Given the description of an element on the screen output the (x, y) to click on. 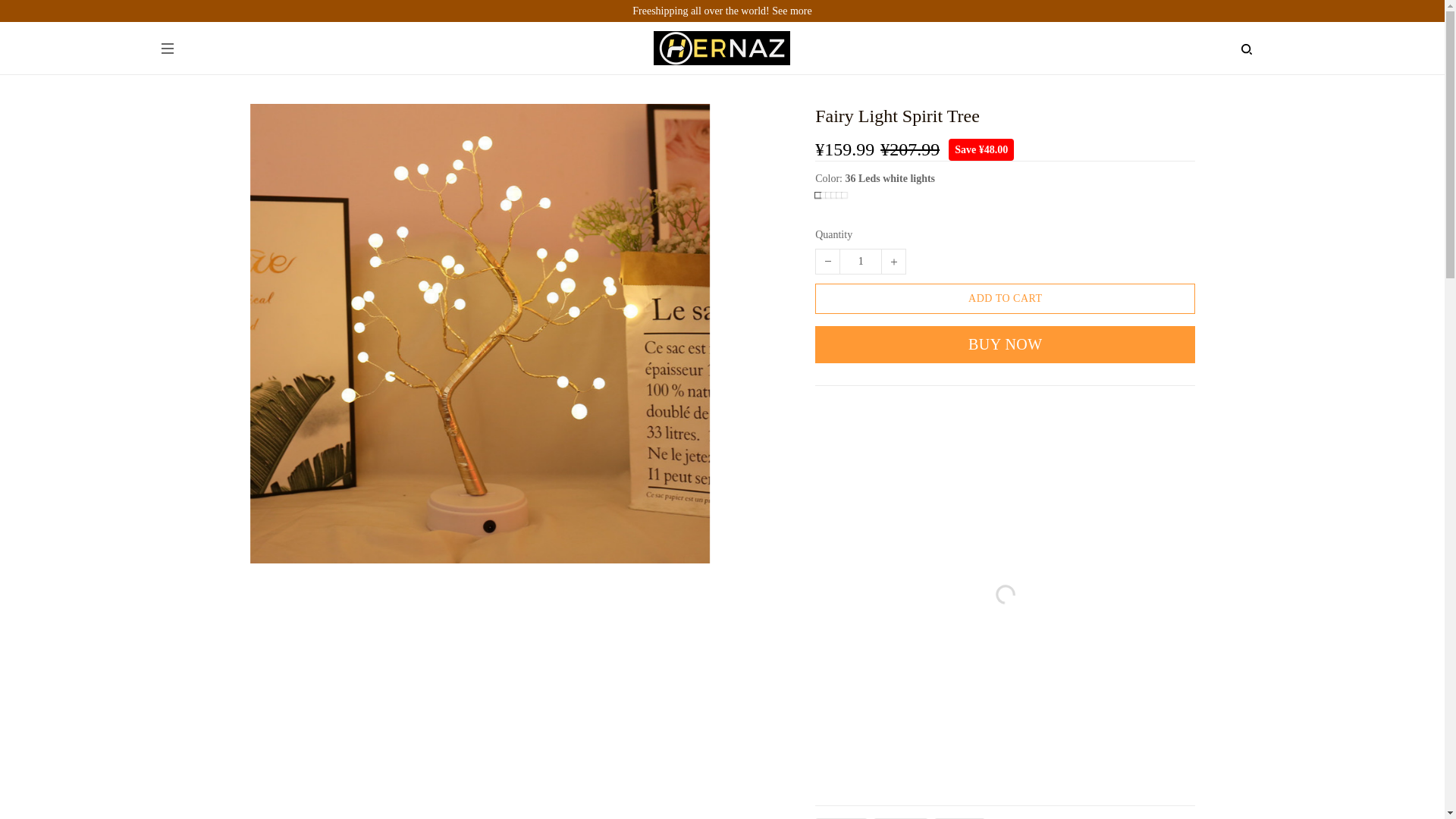
1 (860, 261)
Pin it (959, 818)
ADD TO CART (1005, 298)
Share on Twitter (900, 818)
Share on Facebook (841, 818)
See more (790, 10)
BUY NOW (1005, 344)
Pin on Pinterest (959, 818)
Share (841, 818)
Tweet (900, 818)
